Given the description of an element on the screen output the (x, y) to click on. 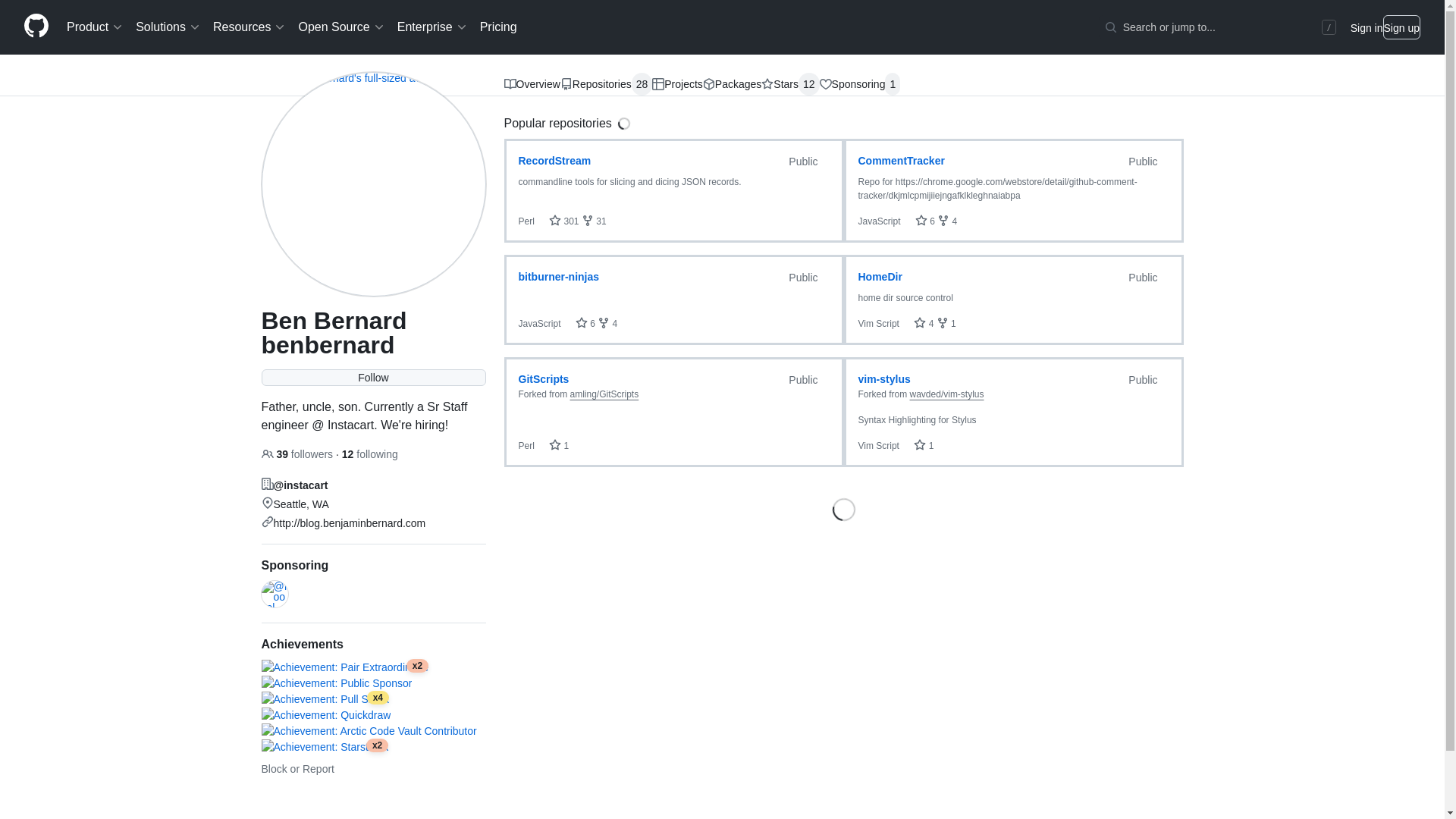
12 (808, 83)
28 (641, 83)
1 (892, 83)
Open Source (341, 27)
Resources (249, 27)
Solutions (167, 27)
Product (95, 27)
